Given the description of an element on the screen output the (x, y) to click on. 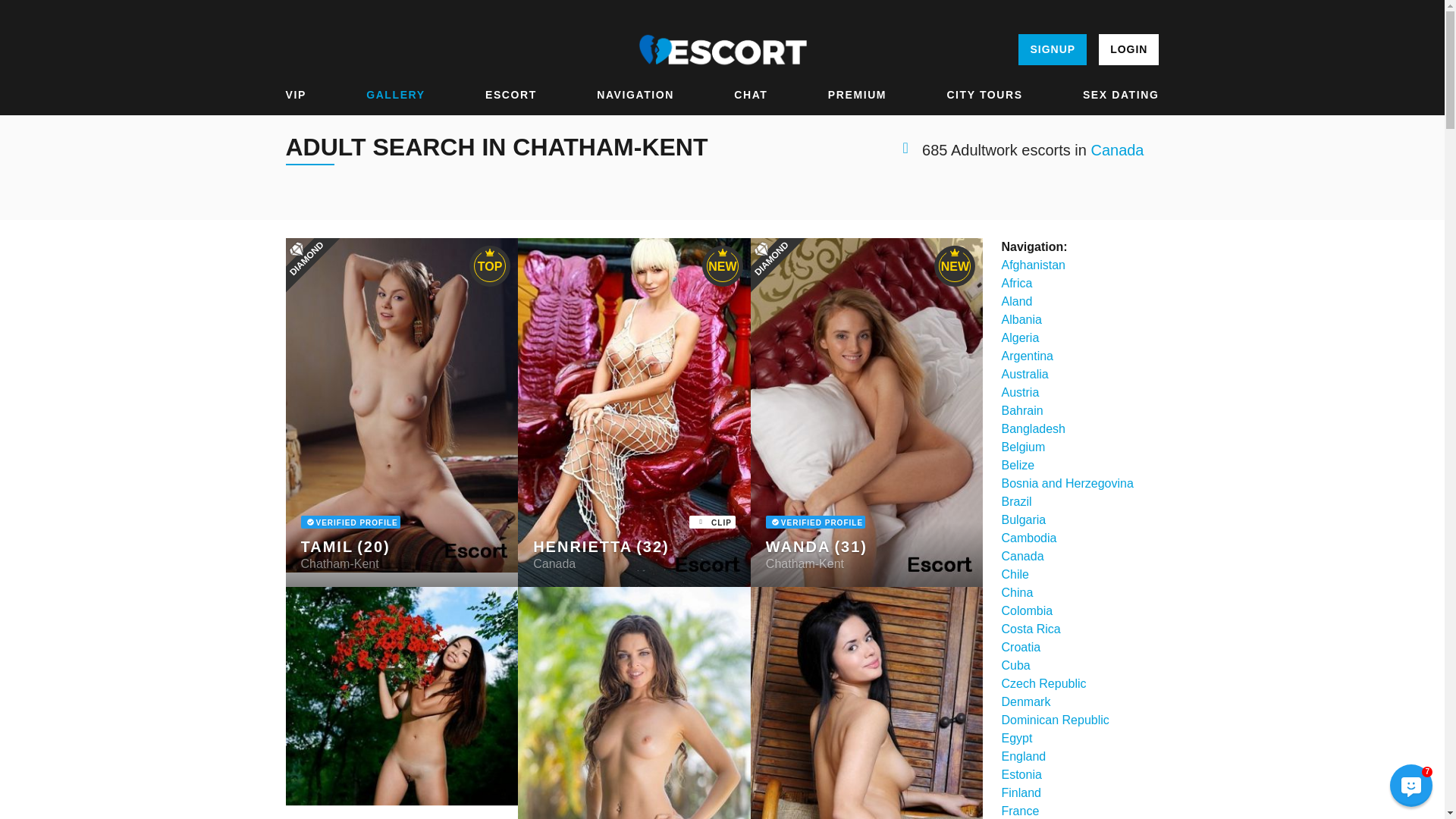
ESCORT (510, 94)
Canada (1116, 149)
NAVIGATION (635, 94)
SIGNUP (1051, 49)
LOGIN (1128, 49)
CITY TOURS (984, 94)
SEX DATING (1120, 94)
VIP (295, 94)
CHAT (750, 94)
GALLERY (395, 94)
